Given the description of an element on the screen output the (x, y) to click on. 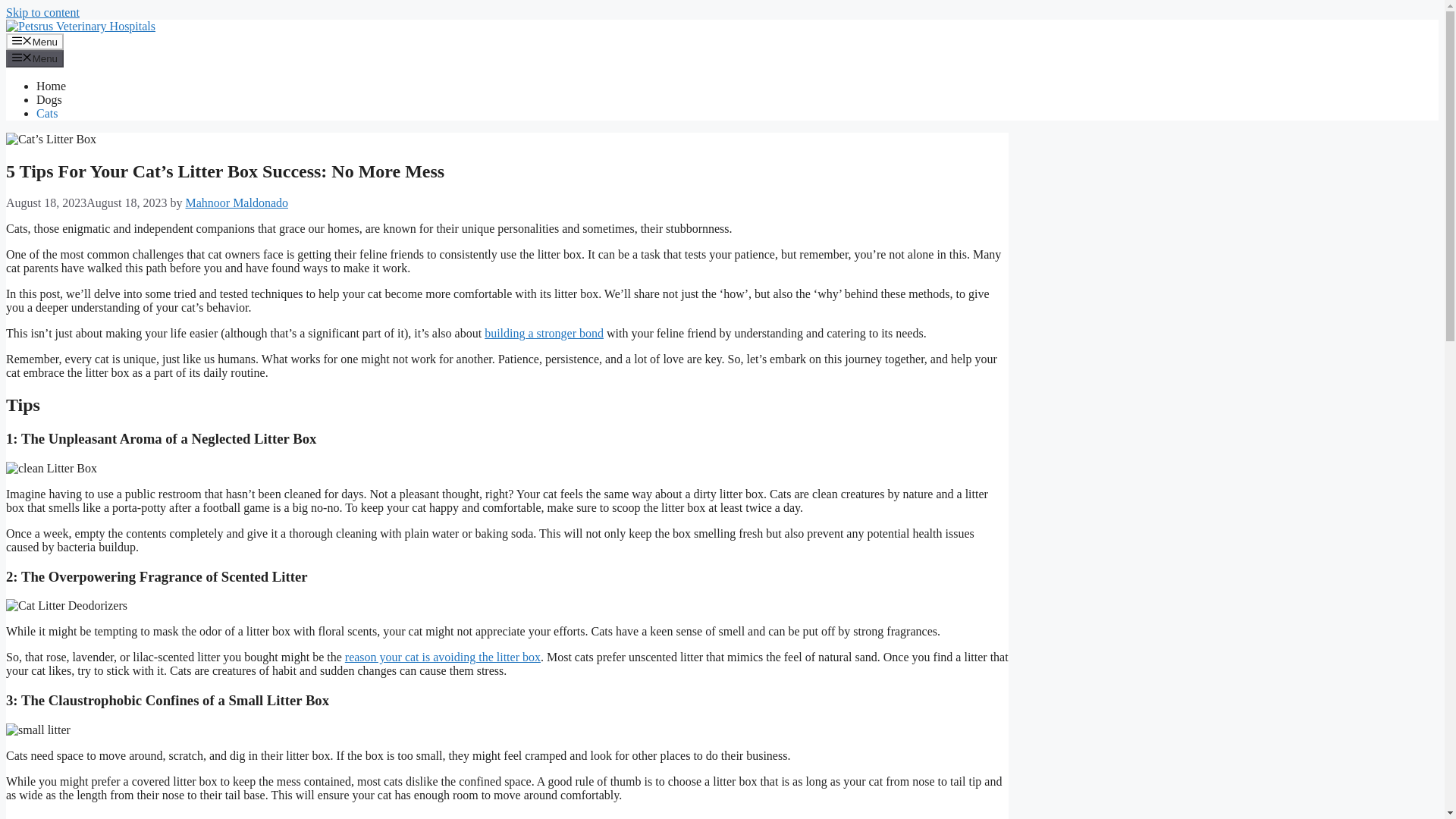
reason your cat is avoiding the litter box (442, 656)
Skip to content (42, 11)
Dogs (49, 99)
building a stronger bond (544, 332)
Cats (47, 113)
View all posts by Mahnoor Maldonado (236, 202)
Menu (34, 41)
Menu (34, 57)
Mahnoor Maldonado (236, 202)
Skip to content (42, 11)
